Given the description of an element on the screen output the (x, y) to click on. 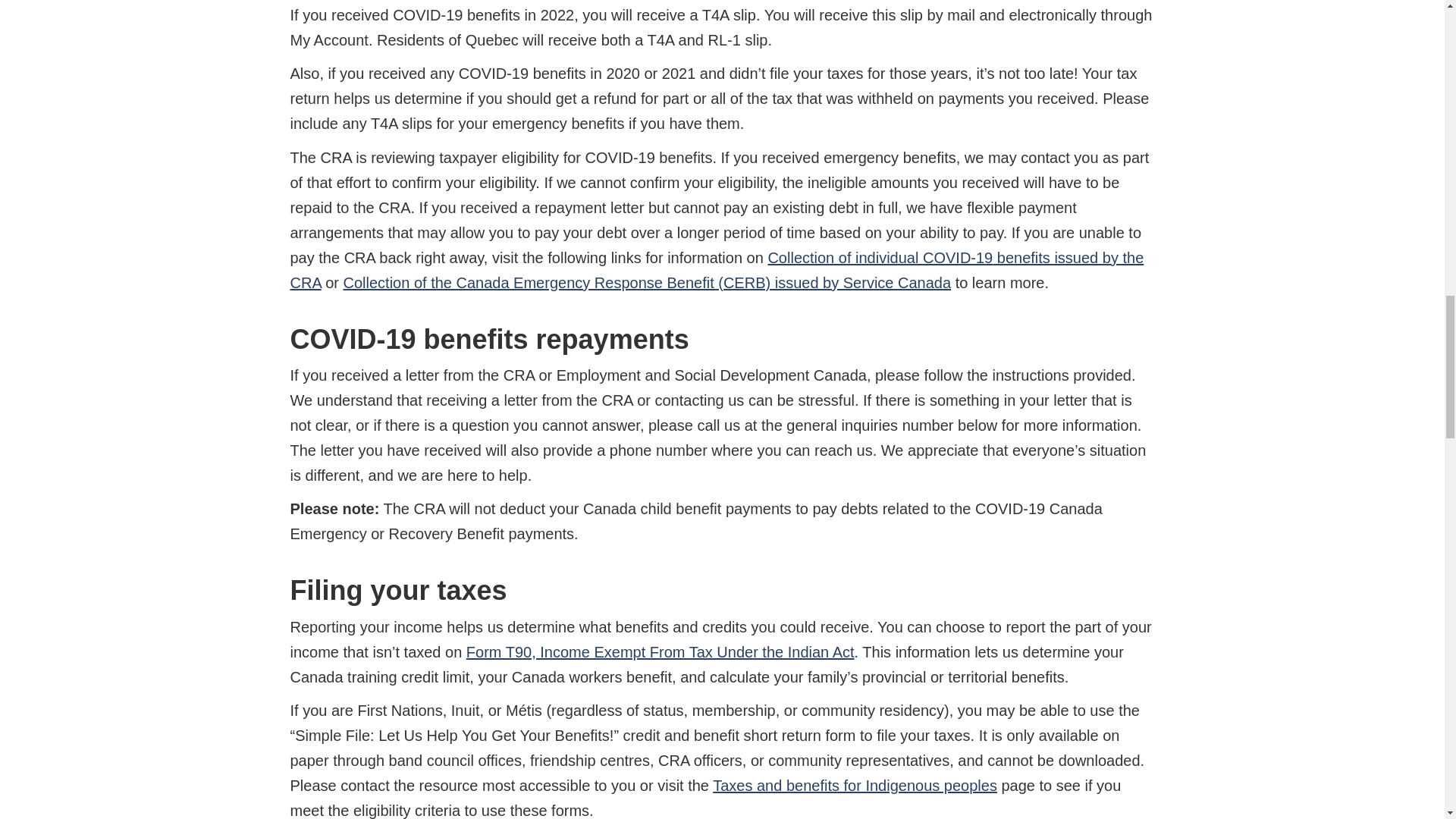
Taxes and benefits for Indigenous peoples (855, 785)
Form T90, Income Exempt From Tax Under the Indian Act (659, 651)
Collection of individual COVID-19 benefits issued by the CRA (715, 270)
